Given the description of an element on the screen output the (x, y) to click on. 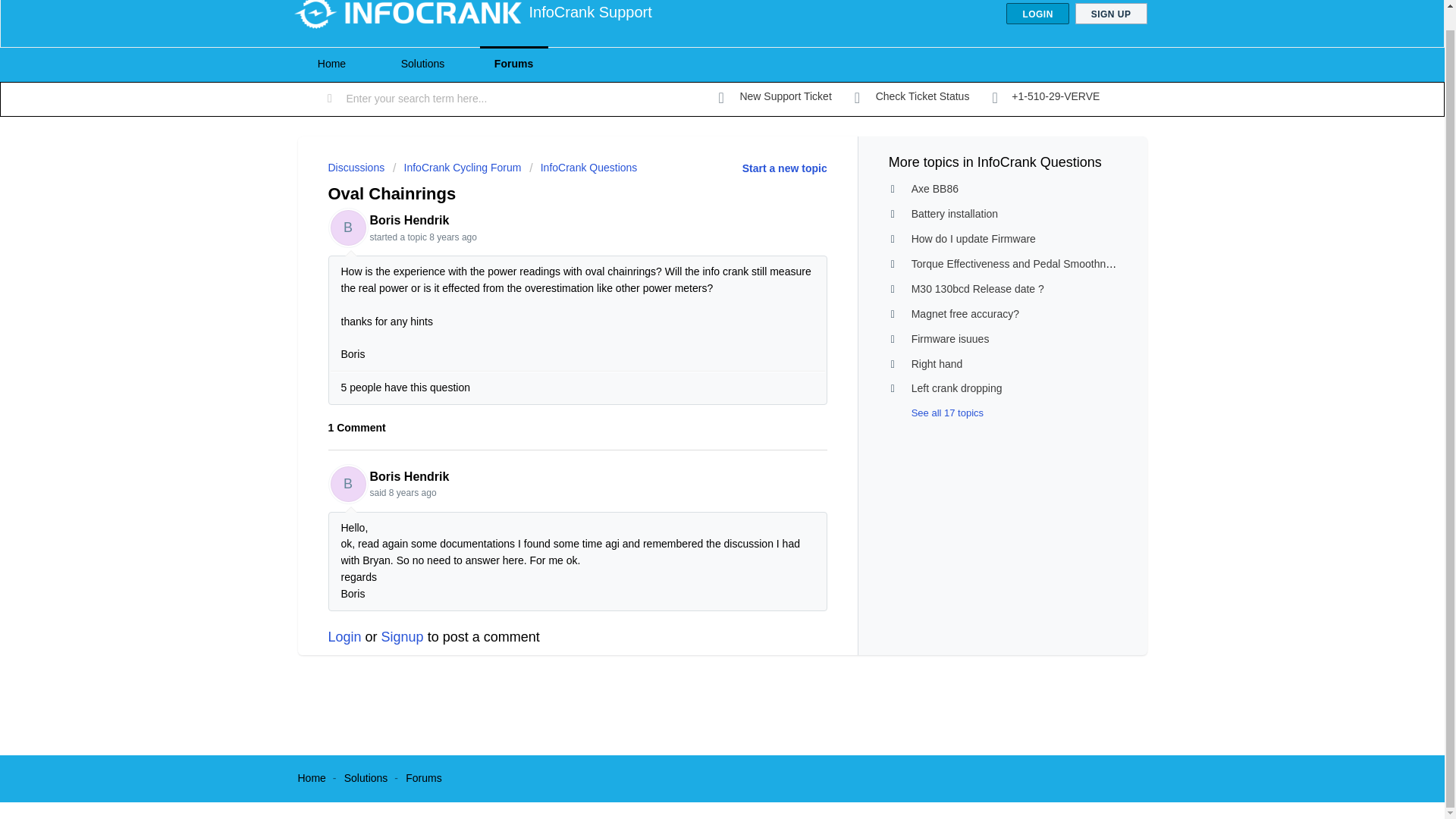
InfoCrank Questions (583, 167)
Check Ticket Status (911, 96)
See all 17 topics (936, 412)
LOGIN (1037, 13)
Solutions (365, 777)
InfoCrank Cycling Forum (457, 167)
Fri, 26 Feb, 2016 at  4:18 PM (412, 492)
Torque Effectiveness and Pedal Smoothness (1016, 263)
Magnet free accuracy? (965, 313)
Signup (402, 636)
Firmware isuues (950, 338)
Start a new topic (784, 168)
Home (310, 777)
See all 17 topics (936, 412)
Axe BB86 (934, 188)
